Given the description of an element on the screen output the (x, y) to click on. 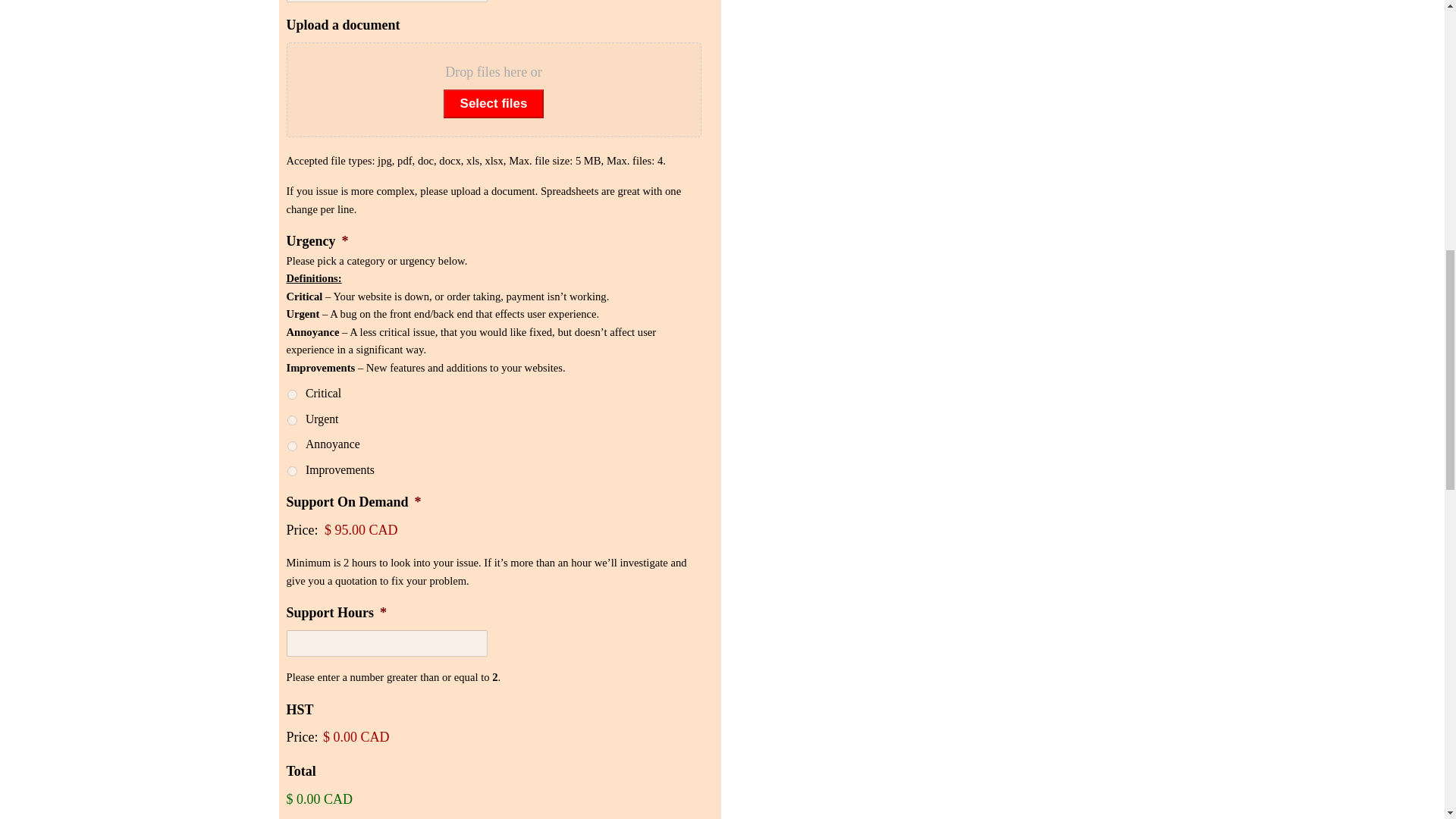
Urgent (291, 420)
Annoyance (291, 446)
Improvements (291, 470)
Critical (291, 394)
